Given the description of an element on the screen output the (x, y) to click on. 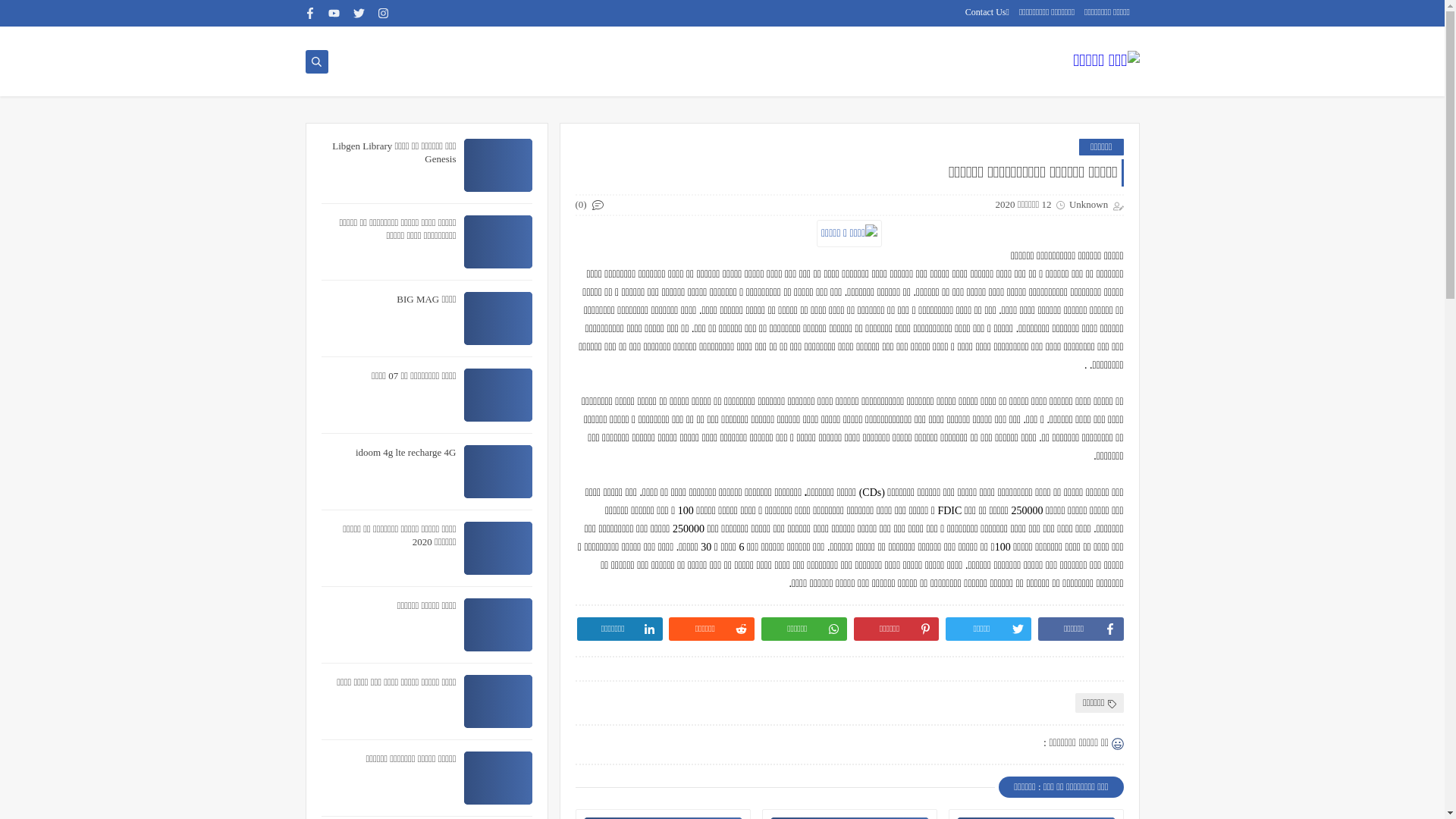
youtube Element type: hover (333, 13)
idoom 4g lte recharge 4G Element type: text (405, 452)
twitter Element type: hover (358, 13)
instagram Element type: hover (383, 13)
facebook Element type: hover (309, 13)
